Given the description of an element on the screen output the (x, y) to click on. 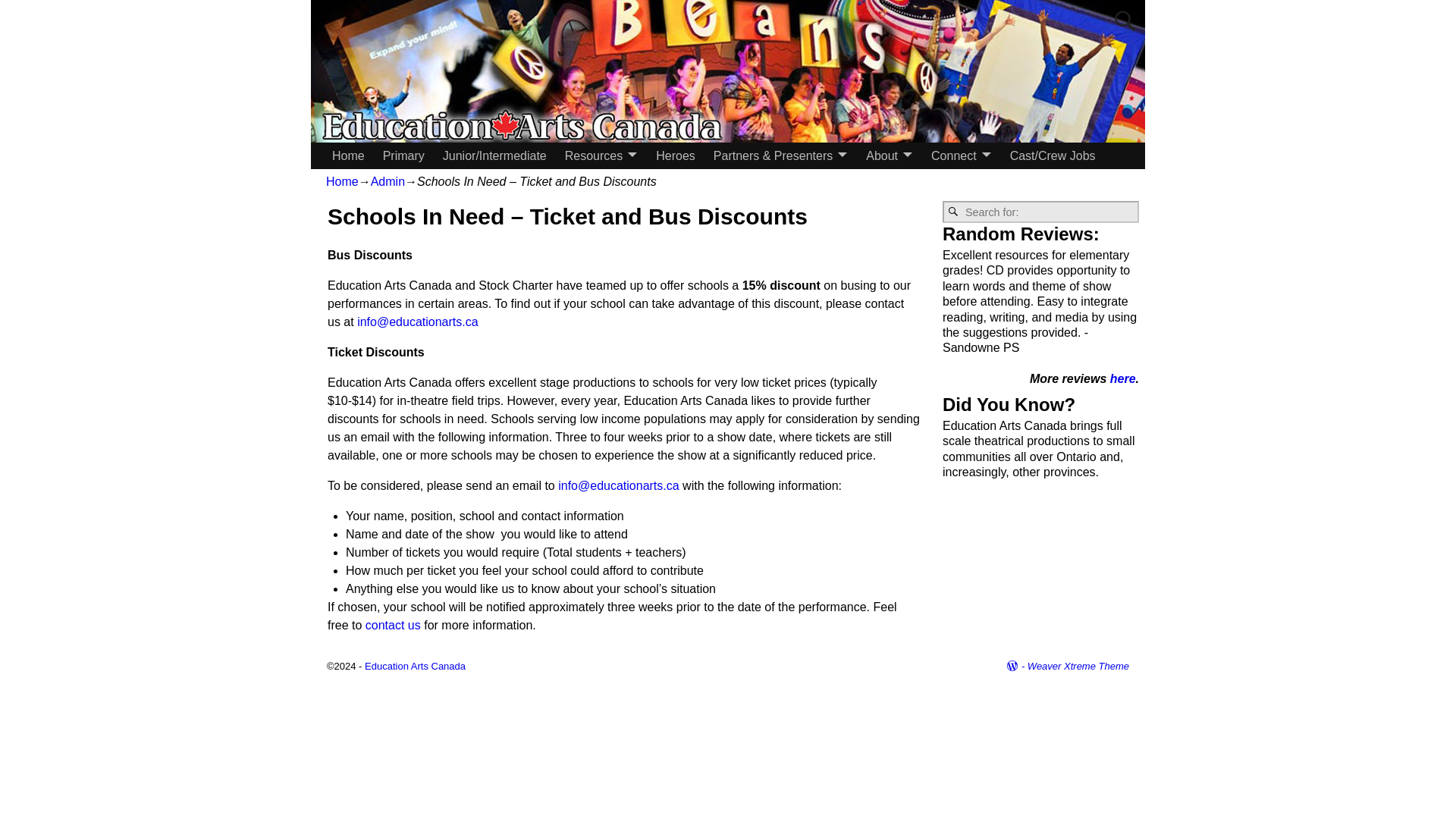
About (889, 155)
- (1016, 665)
Heroes (675, 155)
Admin (387, 181)
here (1122, 378)
Weaver Xtreme Theme (1078, 665)
Education Arts Canada (415, 665)
Primary (403, 155)
Home (342, 181)
Weaver Xtreme Theme (1078, 665)
